Given the description of an element on the screen output the (x, y) to click on. 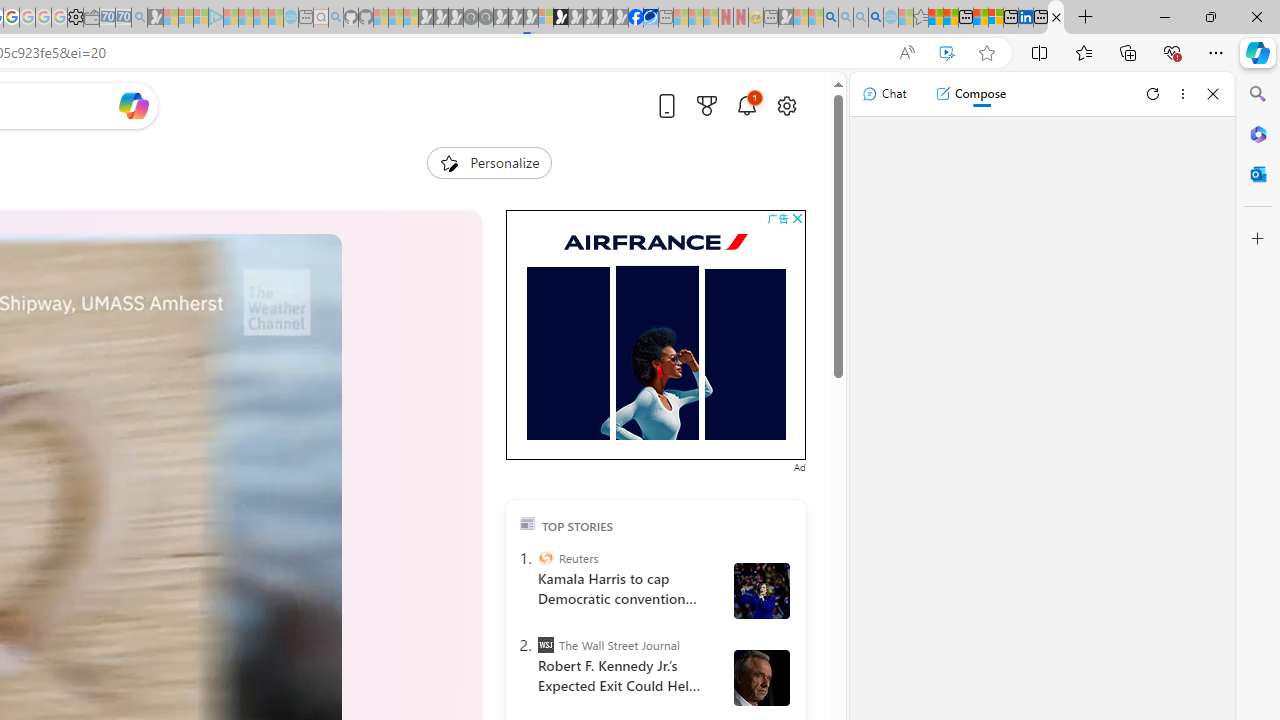
Reuters (545, 557)
MSN - Sleeping (786, 17)
Wallet - Sleeping (91, 17)
Home | Sky Blue Bikes - Sky Blue Bikes - Sleeping (291, 17)
Enhance video (946, 53)
Future Focus Report 2024 - Sleeping (485, 17)
